Given the description of an element on the screen output the (x, y) to click on. 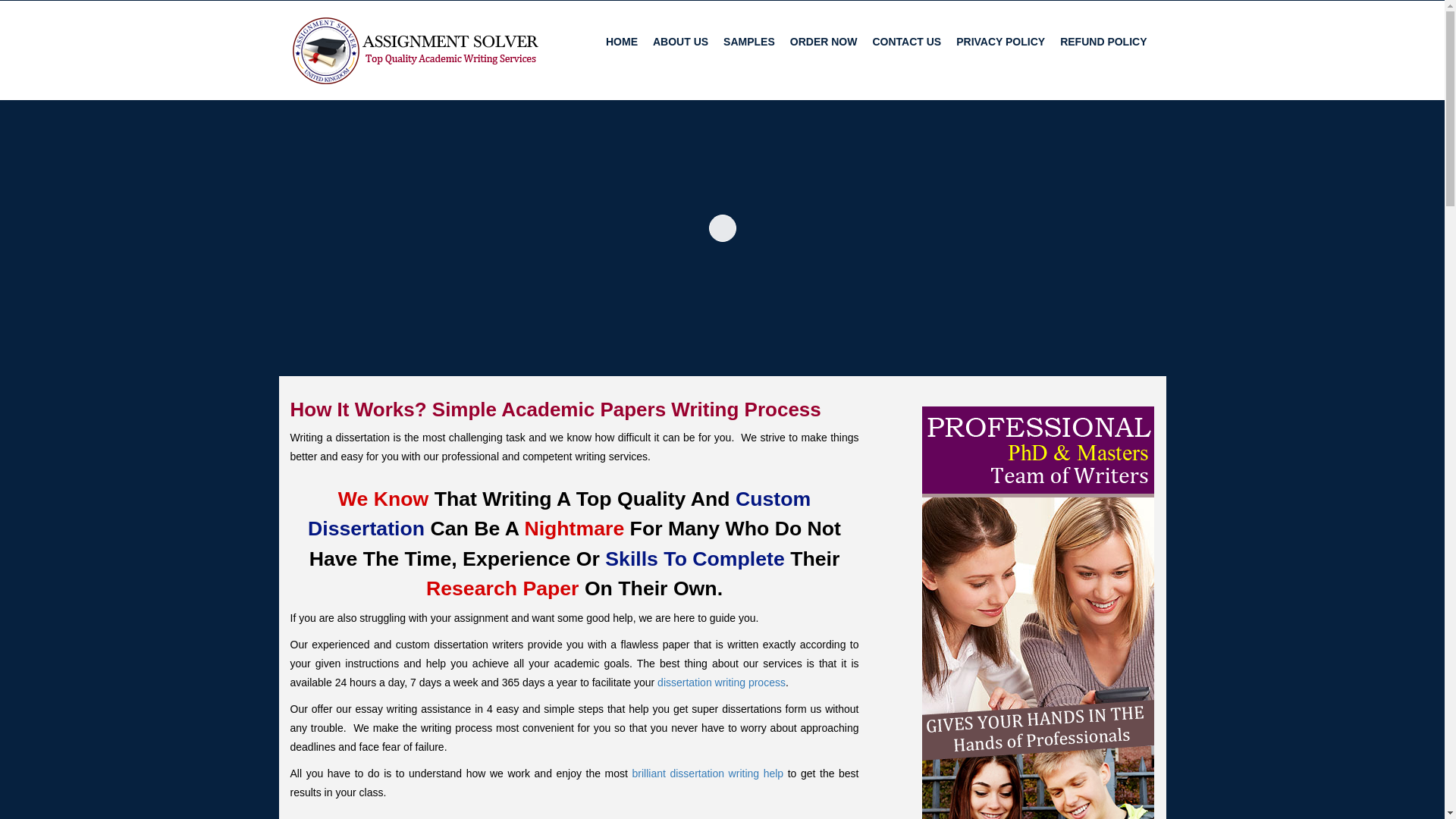
HOME (621, 41)
CONTACT US (906, 41)
Home (621, 41)
PRIVACY POLICY (1000, 41)
ORDER NOW (823, 41)
dissertation writing process (722, 682)
REFUND POLICY (1103, 41)
SAMPLES (749, 41)
ABOUT US (680, 41)
brilliant dissertation writing help (707, 773)
About Us (680, 41)
